Given the description of an element on the screen output the (x, y) to click on. 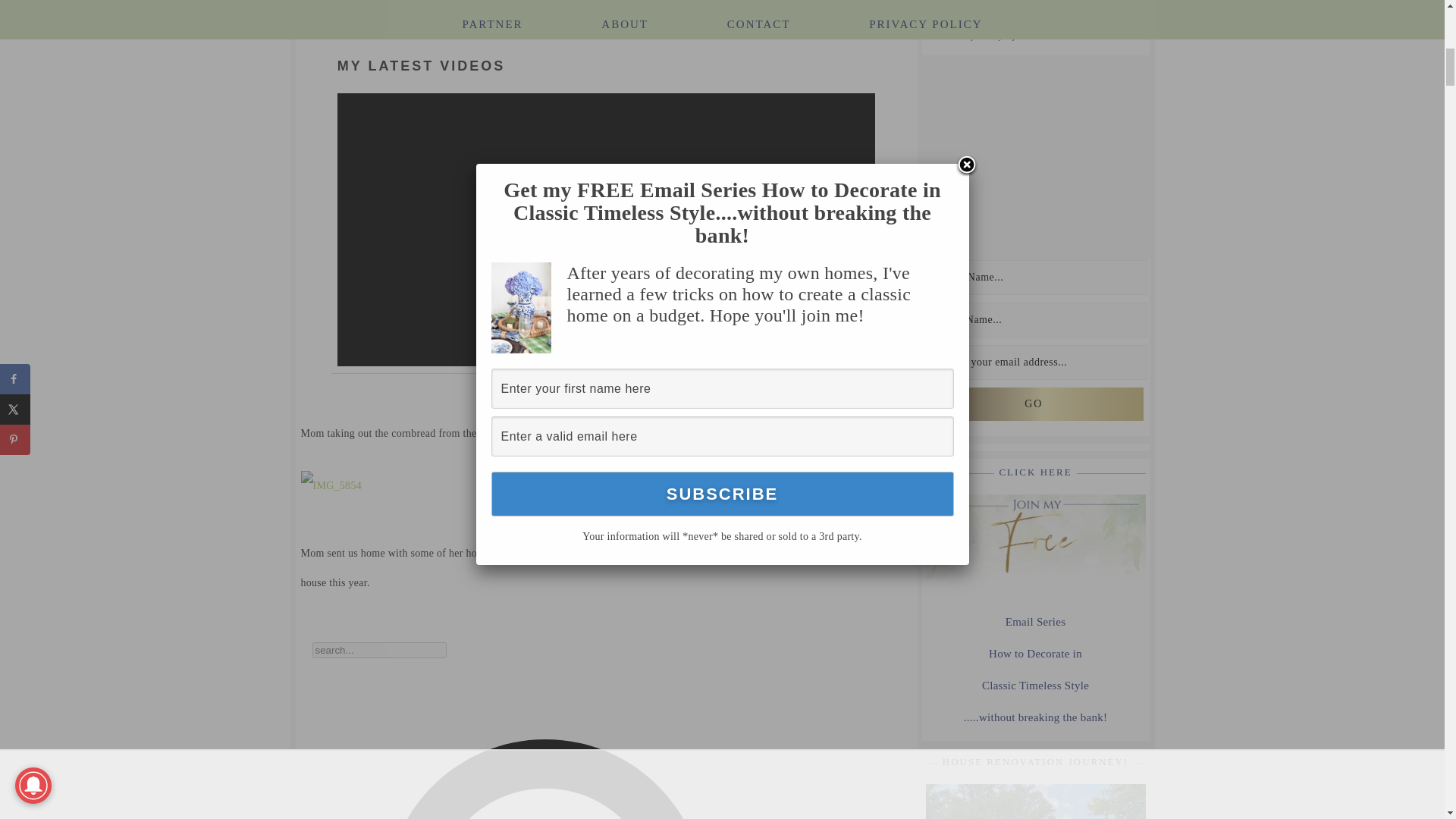
Go (1032, 403)
